Given the description of an element on the screen output the (x, y) to click on. 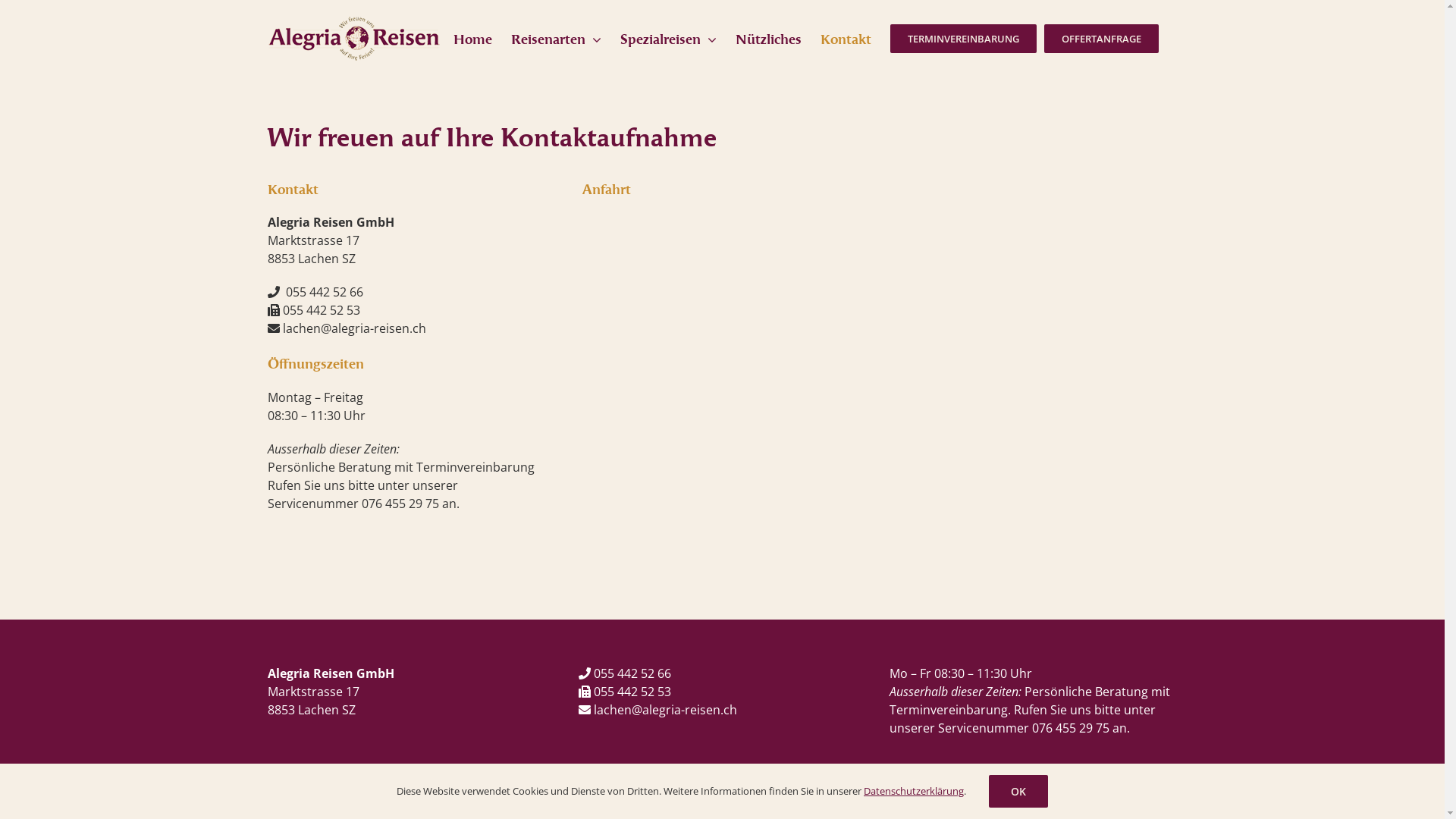
Spezialreisen Element type: text (668, 38)
OFFERTANFRAGE Element type: text (1100, 38)
TERMINVEREINBARUNG Element type: text (963, 38)
Kontakt Element type: text (845, 38)
lachen@alegria-reisen.ch Element type: text (664, 709)
AGBs Element type: text (336, 799)
Reisenarten Element type: text (556, 38)
Home Element type: text (472, 38)
Impressum Element type: text (290, 799)
OK Element type: text (1018, 791)
lachen@alegria-reisen.ch Element type: text (353, 328)
